Given the description of an element on the screen output the (x, y) to click on. 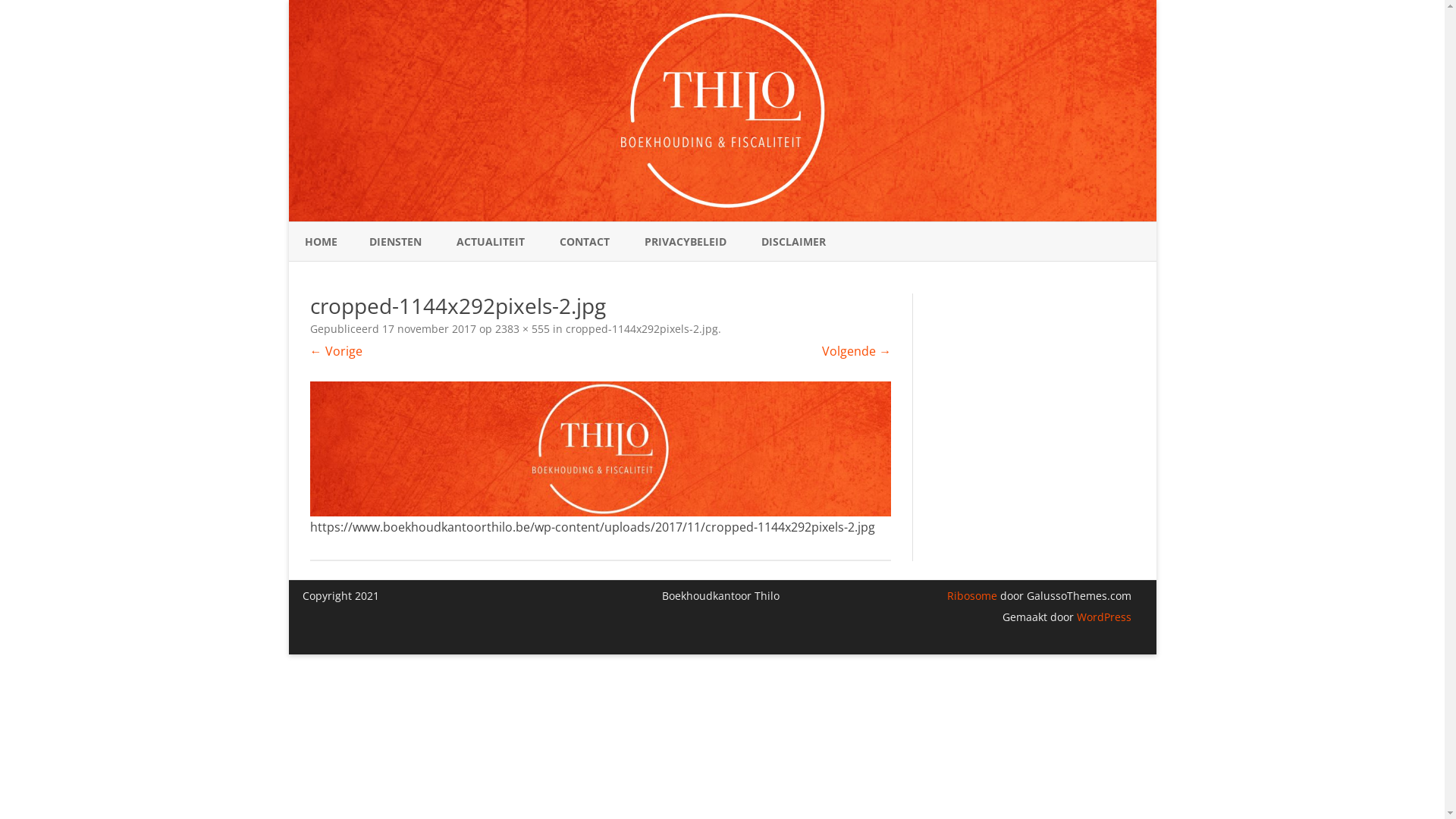
CONTACT Element type: text (584, 241)
WordPress Element type: text (1102, 616)
ACTUALITEIT Element type: text (490, 241)
cropped-1144x292pixels-2.jpg Element type: text (641, 328)
Ga direct naar de inhoud Element type: text (721, 221)
HOME Element type: text (320, 241)
cropped-1144x292pixels-2.jpg Element type: hover (600, 448)
DIENSTEN Element type: text (394, 241)
DISCLAIMER Element type: text (793, 241)
Ribosome Element type: text (972, 595)
PRIVACYBELEID Element type: text (685, 241)
